Given the description of an element on the screen output the (x, y) to click on. 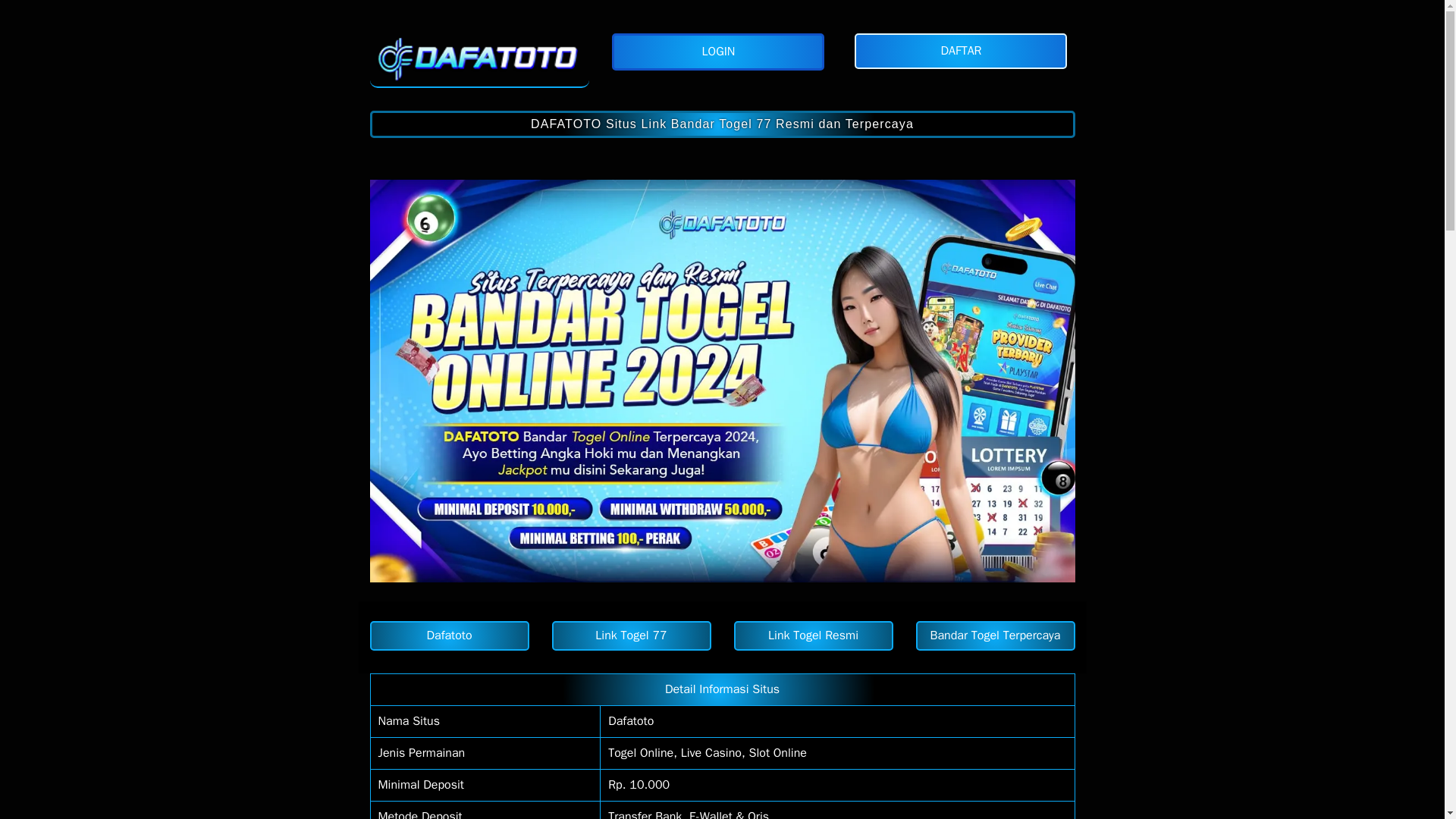
Dafatoto (449, 635)
DAFATOTO Situs Link Bandar Togel 77 Resmi dan Terpercaya (722, 124)
Bandar Togel Terpercaya (995, 635)
Link Togel Resmi (813, 635)
Link Togel Resmi (813, 635)
DAFATOTO Situs Link Bandar Togel 77 Resmi dan Terpercaya (722, 124)
Bandar Togel Terpercaya (995, 635)
DAFATOTO Situs Link Bandar Togel 77 Resmi dan Terpercaya (479, 55)
Link Togel 77 (631, 635)
Dafatoto (449, 635)
DAFTAR (964, 50)
LOGIN (721, 51)
Link Togel 77 (631, 635)
